Given the description of an element on the screen output the (x, y) to click on. 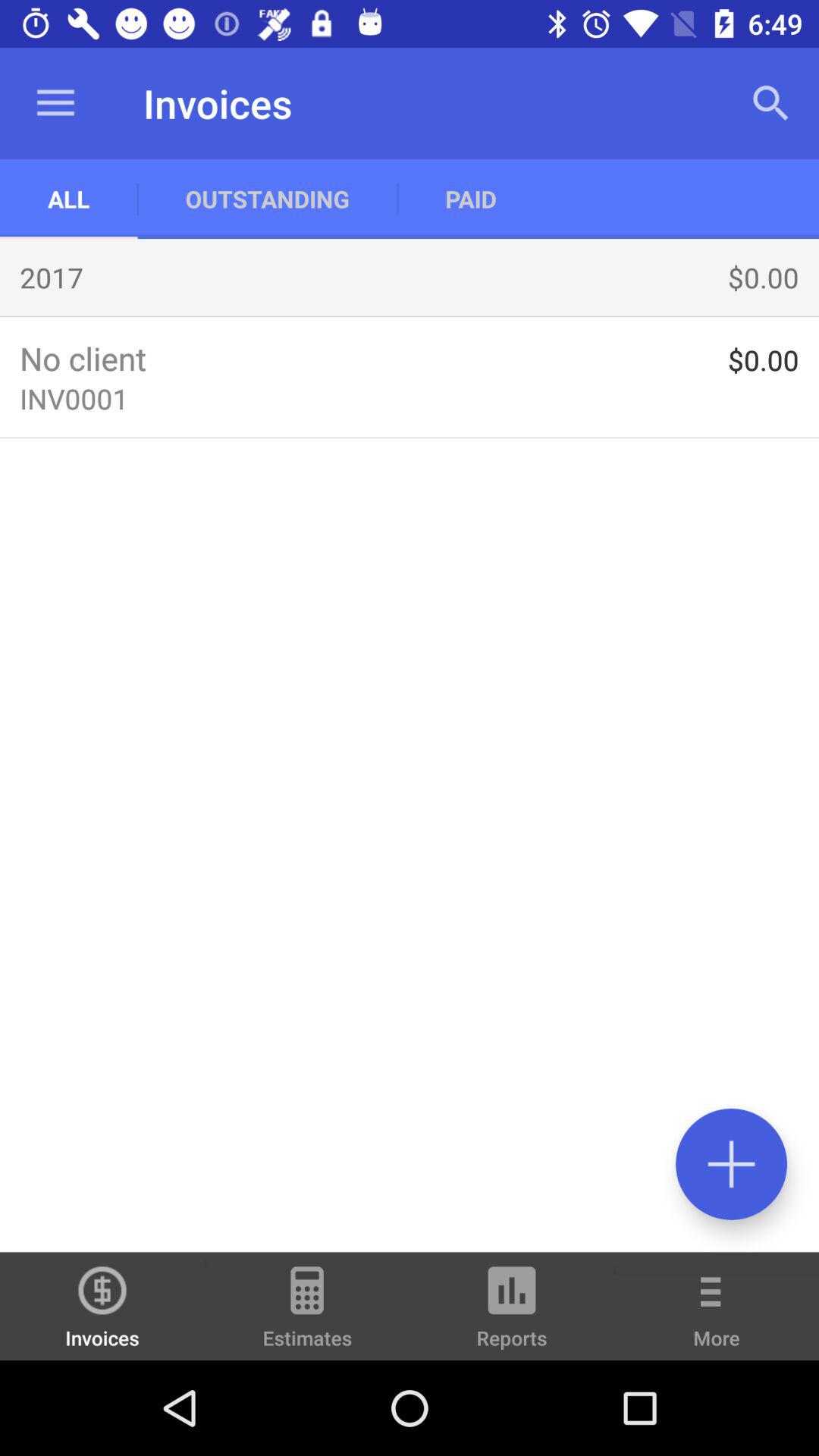
flip to the estimates icon (306, 1313)
